Given the description of an element on the screen output the (x, y) to click on. 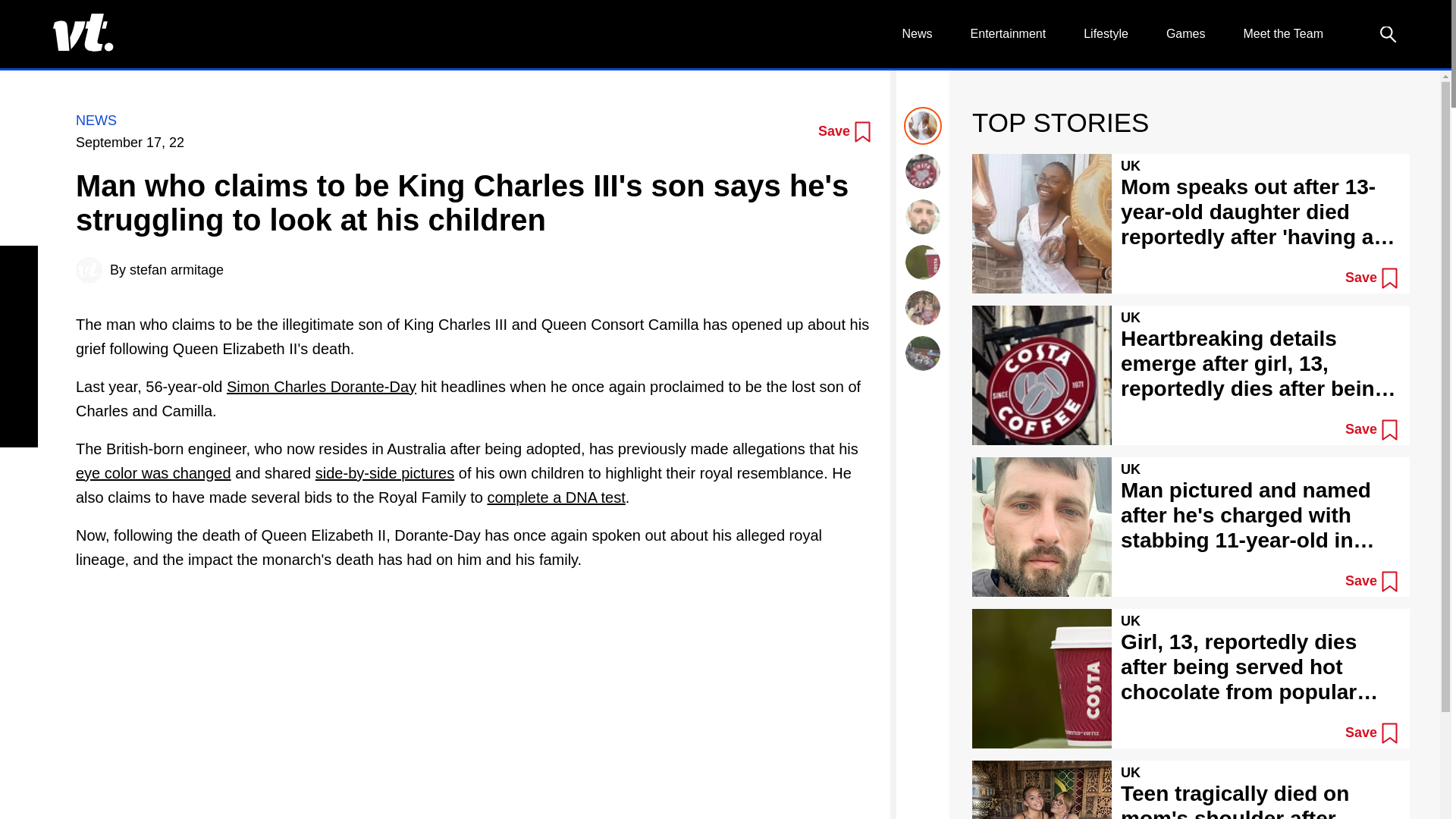
Games (1185, 33)
eye color was changed (153, 473)
Entertainment (1008, 33)
complete a DNA test (555, 497)
Simon Charles Dorante-Day (321, 386)
News (917, 33)
Lifestyle (1105, 33)
side-by-side pictures (384, 473)
Meet the Team (1283, 33)
NEWS (95, 120)
